Given the description of an element on the screen output the (x, y) to click on. 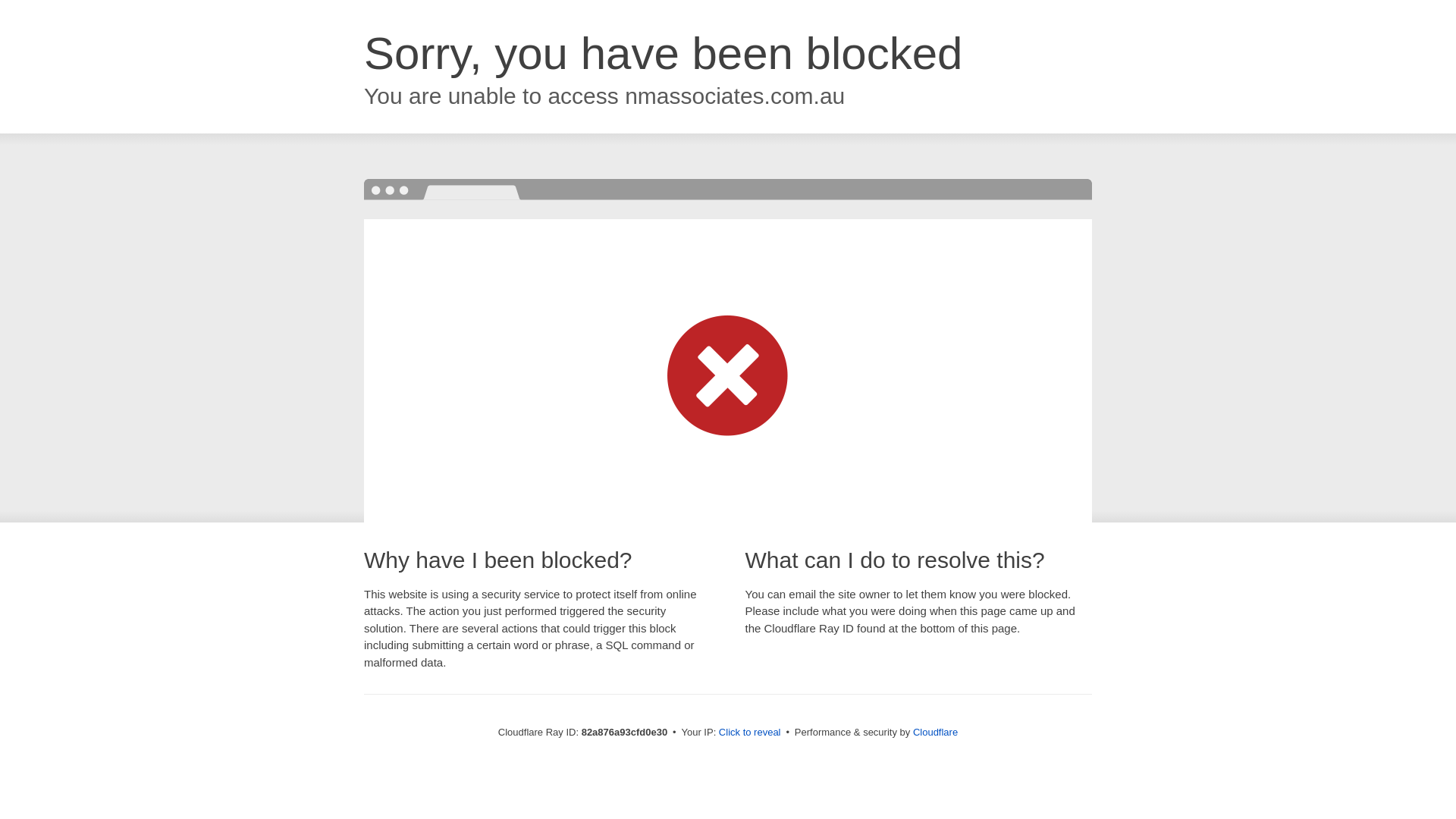
Click to reveal Element type: text (749, 732)
Cloudflare Element type: text (935, 731)
